Given the description of an element on the screen output the (x, y) to click on. 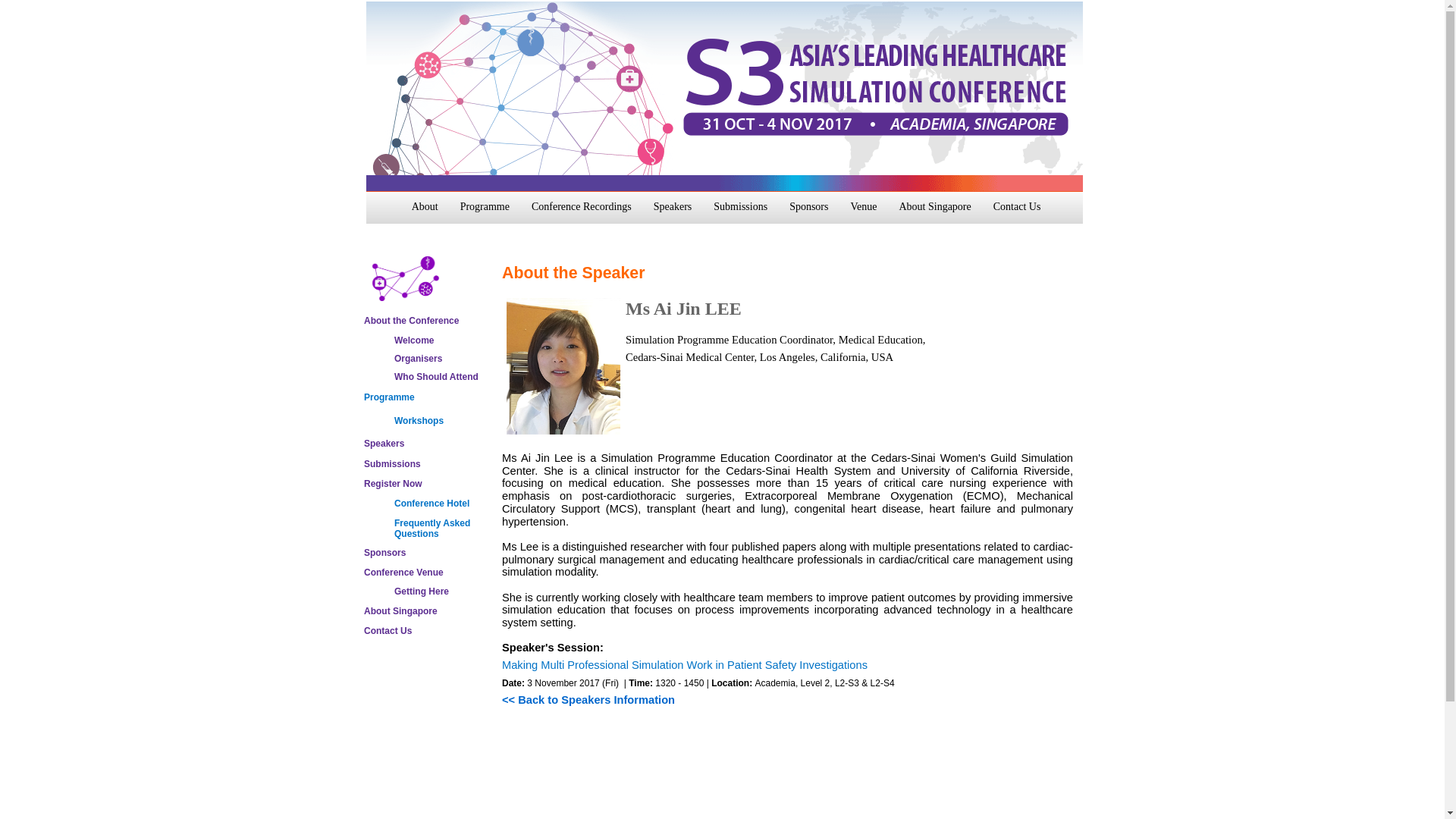
Programme (389, 397)
Workshops (419, 420)
Contact Us (1016, 211)
About (424, 211)
Submissions (740, 211)
Venue (863, 211)
Conference Venue (404, 572)
Who Should Attend (436, 376)
Submissions (392, 463)
About the Conference (411, 320)
Getting Here (421, 591)
About Singapore (934, 211)
Sponsors (808, 211)
Contact Us (388, 630)
Conference Hotel (431, 502)
